Given the description of an element on the screen output the (x, y) to click on. 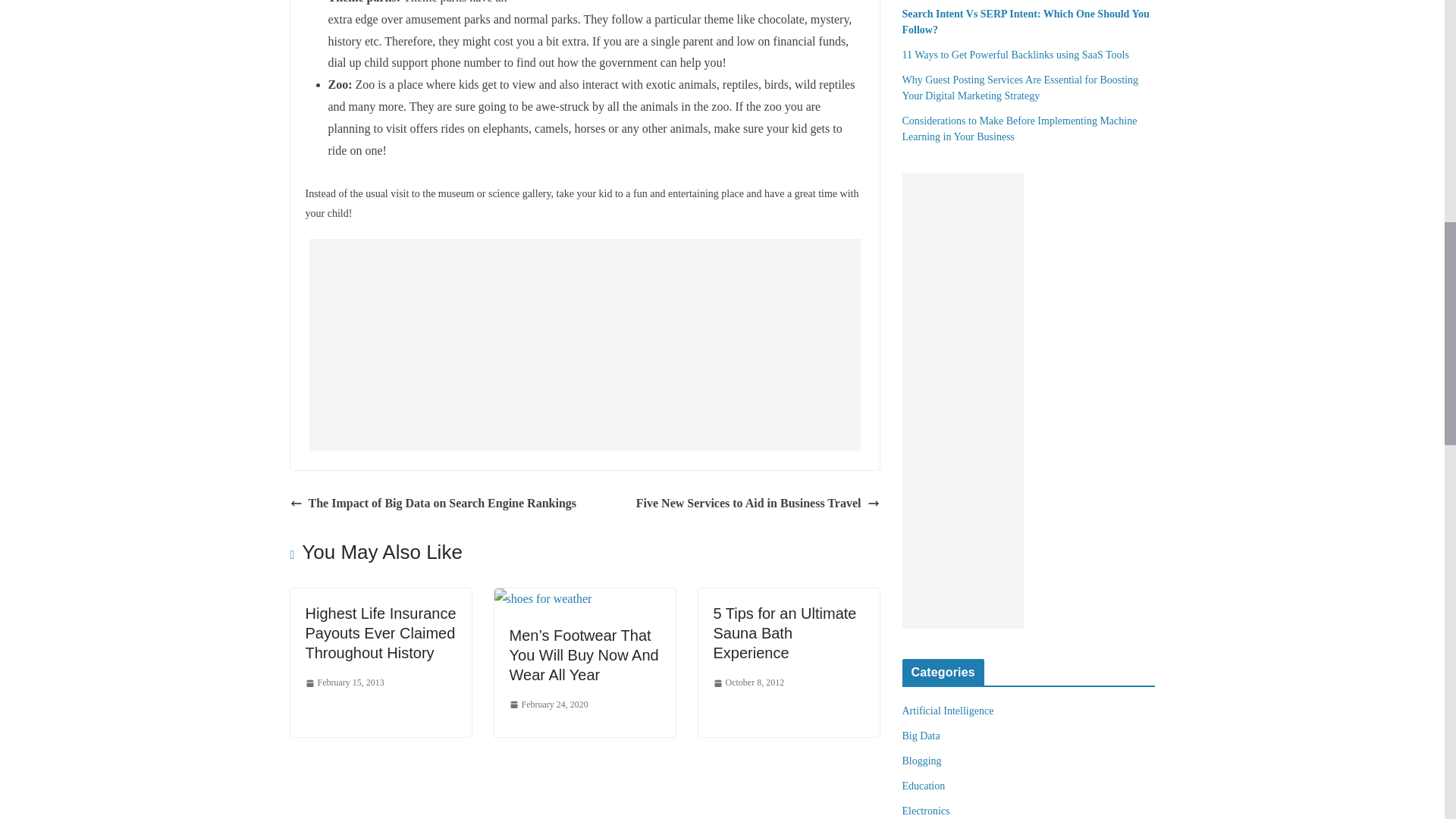
Five New Services to Aid in Business Travel (757, 504)
12:46 pm (748, 682)
6:32 am (548, 704)
Advertisement (584, 345)
February 24, 2020 (548, 704)
5 Tips for an Ultimate Sauna Bath Experience (784, 632)
7:17 am (344, 682)
October 8, 2012 (748, 682)
February 15, 2013 (344, 682)
5 Tips for an Ultimate Sauna Bath Experience (784, 632)
The Impact of Big Data on Search Engine Rankings (432, 504)
